Given the description of an element on the screen output the (x, y) to click on. 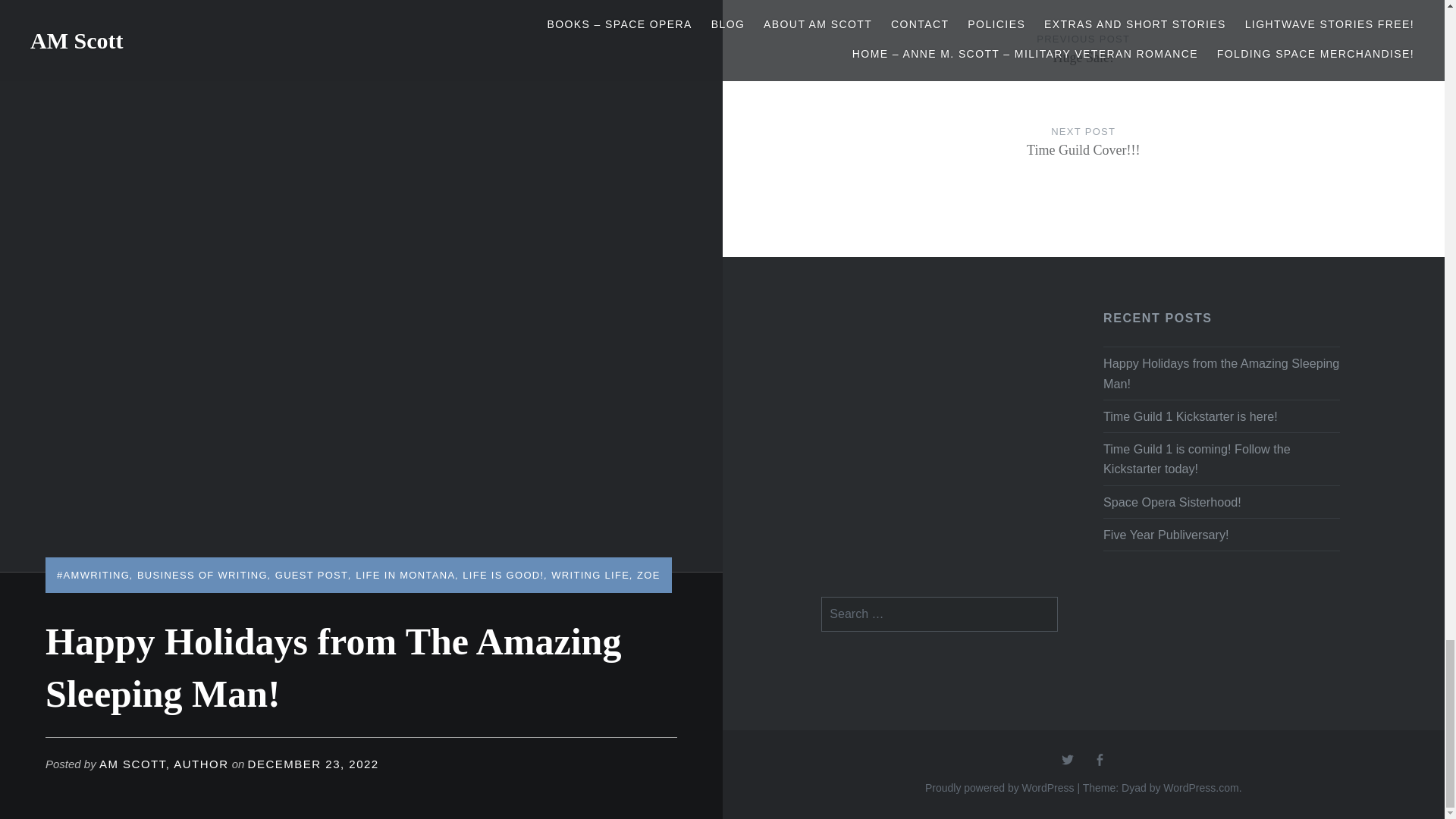
Proudly powered by WordPress (999, 787)
WordPress.com (1201, 787)
Five Year Publiversary! (1221, 534)
Twitter (1067, 760)
Facebook (1099, 760)
Space Opera Sisterhood! (1221, 501)
Time Guild 1 Kickstarter is here! (1083, 156)
Time Guild 1 is coming! Follow the Kickstarter today! (1083, 63)
Happy Holidays from the Amazing Sleeping Man! (1221, 415)
